Given the description of an element on the screen output the (x, y) to click on. 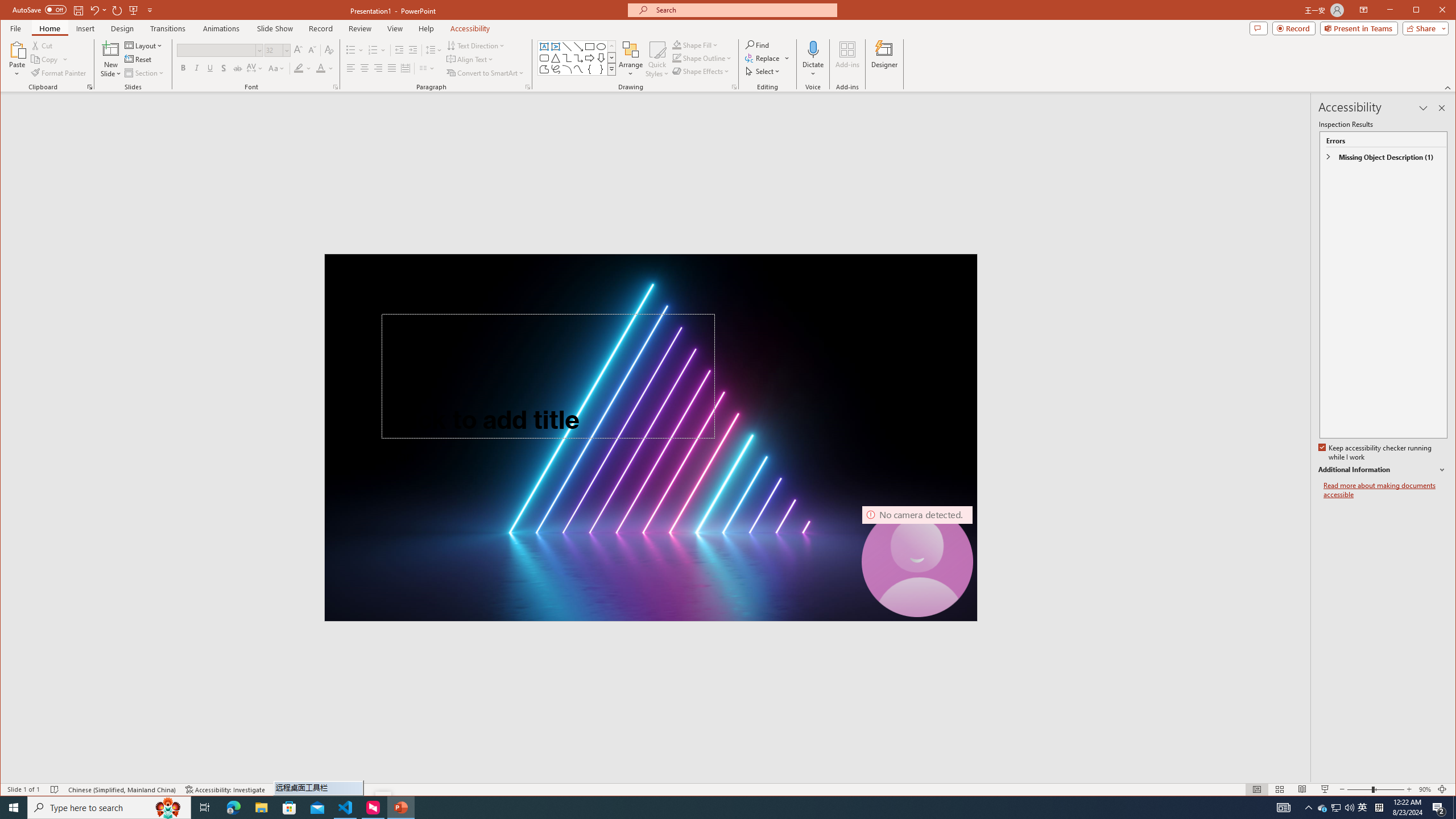
Neon laser lights aligned to form a triangle (650, 436)
Title TextBox (547, 375)
Decrease Indent (399, 49)
Justify (1362, 807)
Section (391, 68)
